Given the description of an element on the screen output the (x, y) to click on. 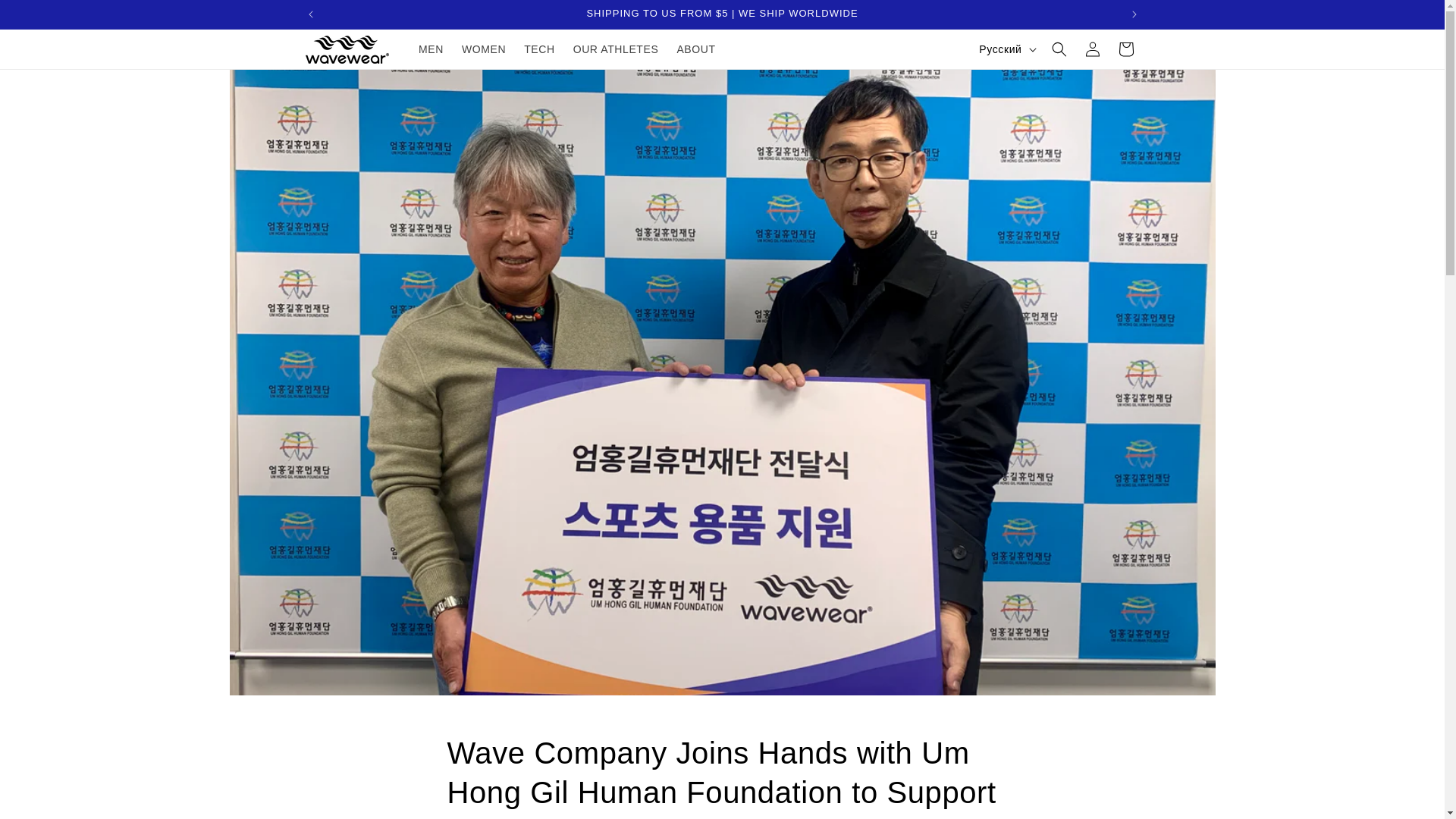
OUR ATHLETES (616, 49)
MEN (430, 49)
TECH (539, 49)
ABOUT (694, 49)
WOMEN (483, 49)
